Given the description of an element on the screen output the (x, y) to click on. 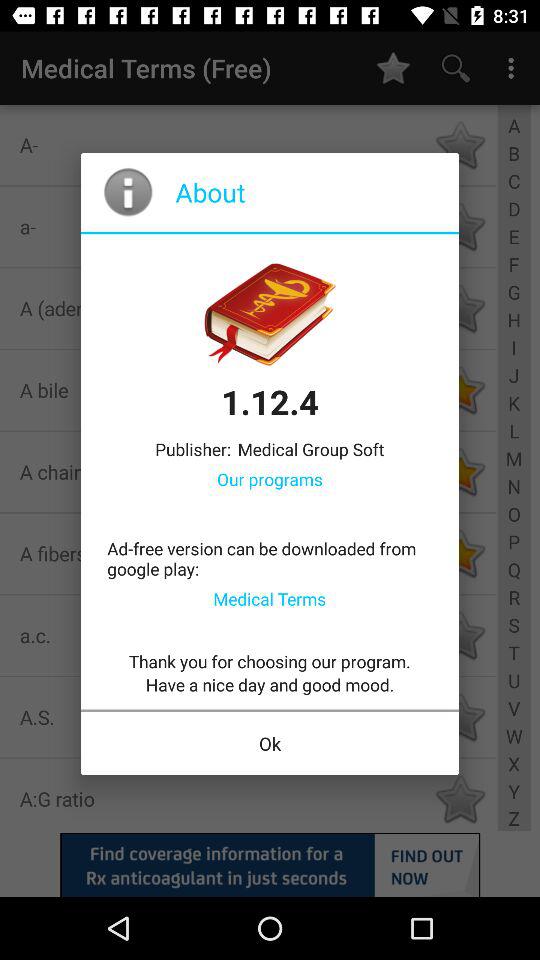
swipe to our programs item (269, 478)
